Given the description of an element on the screen output the (x, y) to click on. 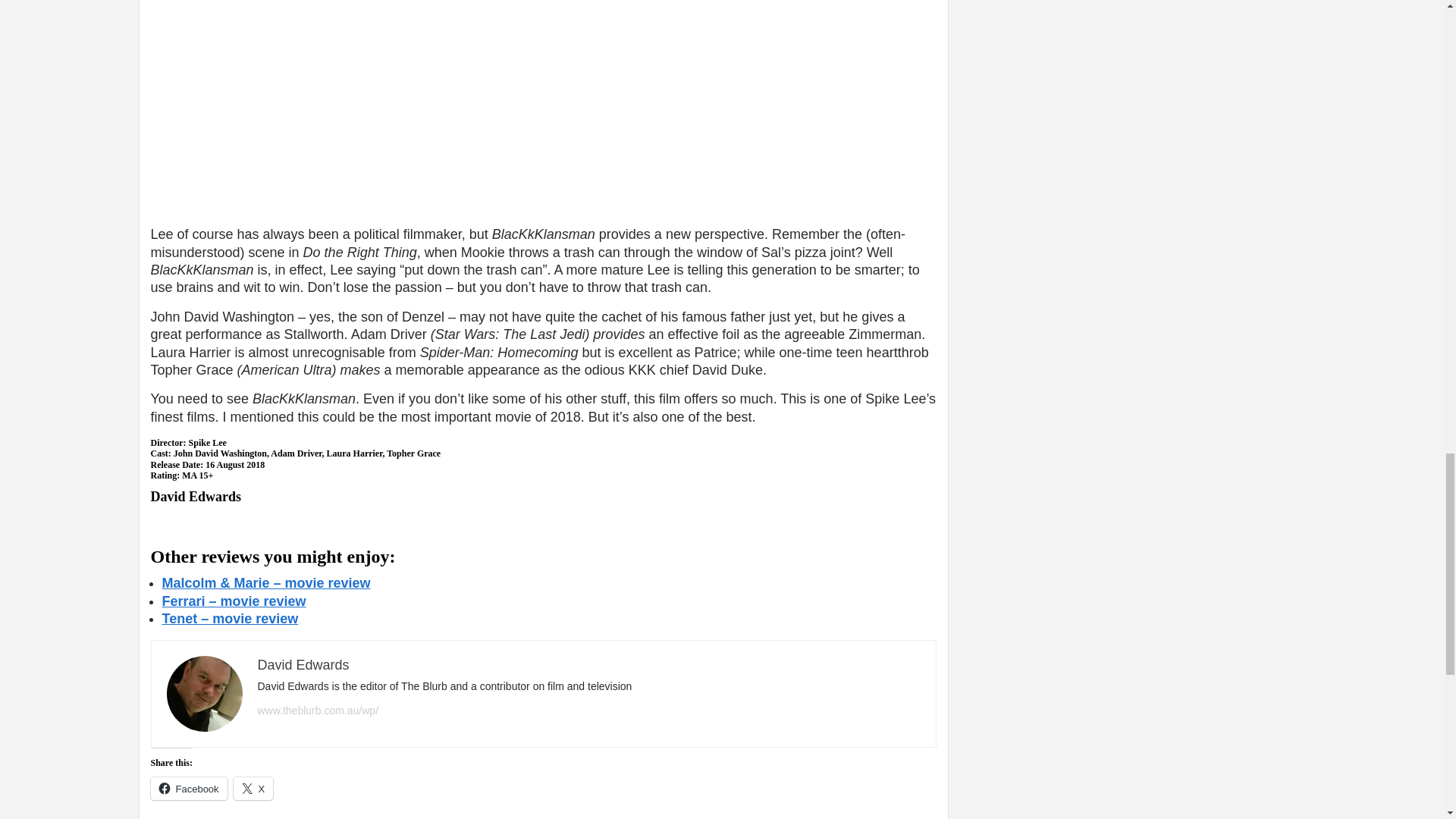
X (252, 788)
Facebook (188, 788)
Click to share on X (252, 788)
David Edwards (303, 664)
Click to share on Facebook (188, 788)
